Given the description of an element on the screen output the (x, y) to click on. 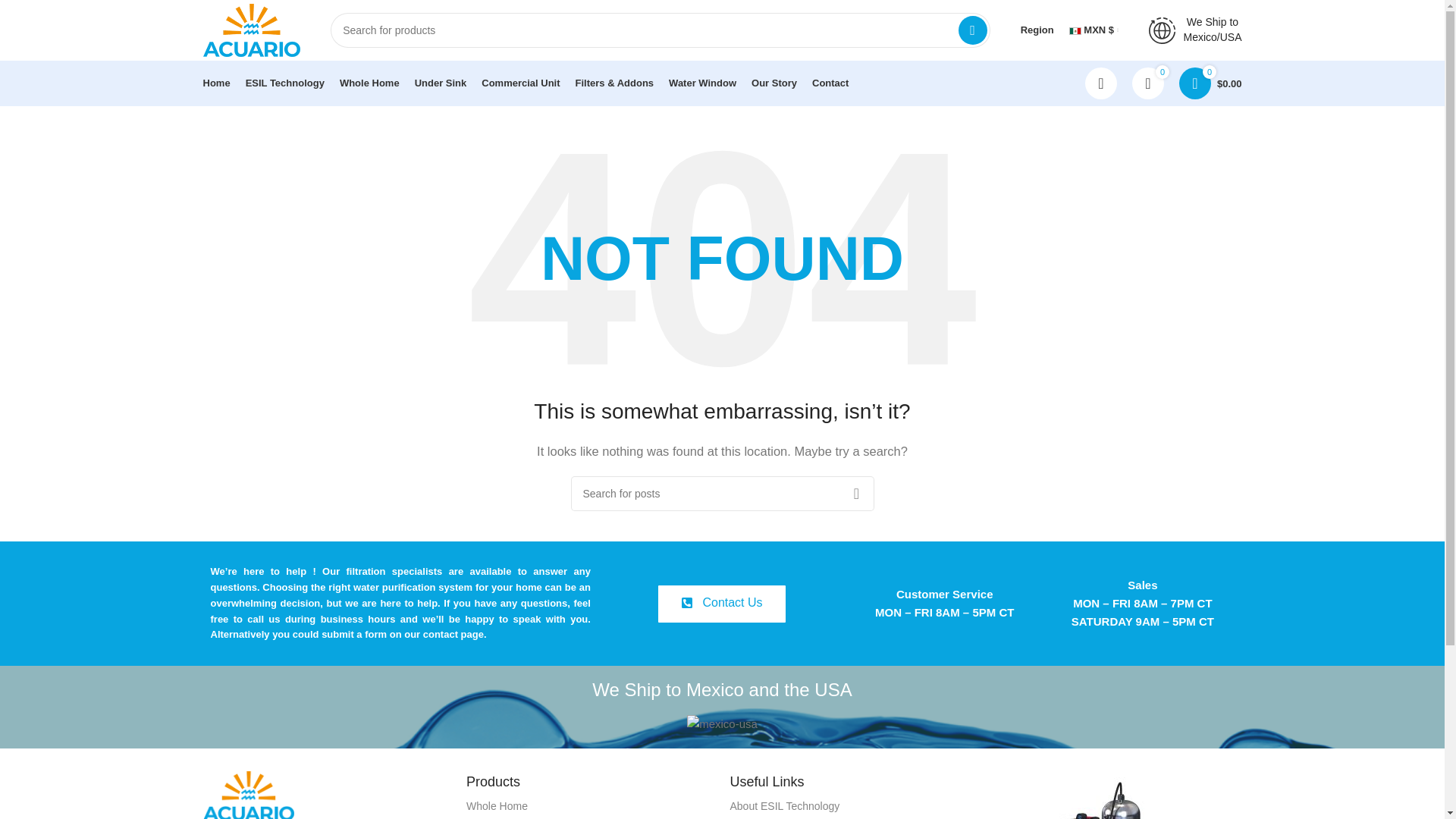
Whole Home (368, 82)
mexico-usa (722, 723)
Shopping cart (1210, 82)
Contact Us (721, 603)
Region (1037, 30)
Water Window (702, 82)
Commercial Unit (520, 82)
About ESIL Technology (853, 806)
My account (1100, 82)
ESIL Technology (285, 82)
